Given the description of an element on the screen output the (x, y) to click on. 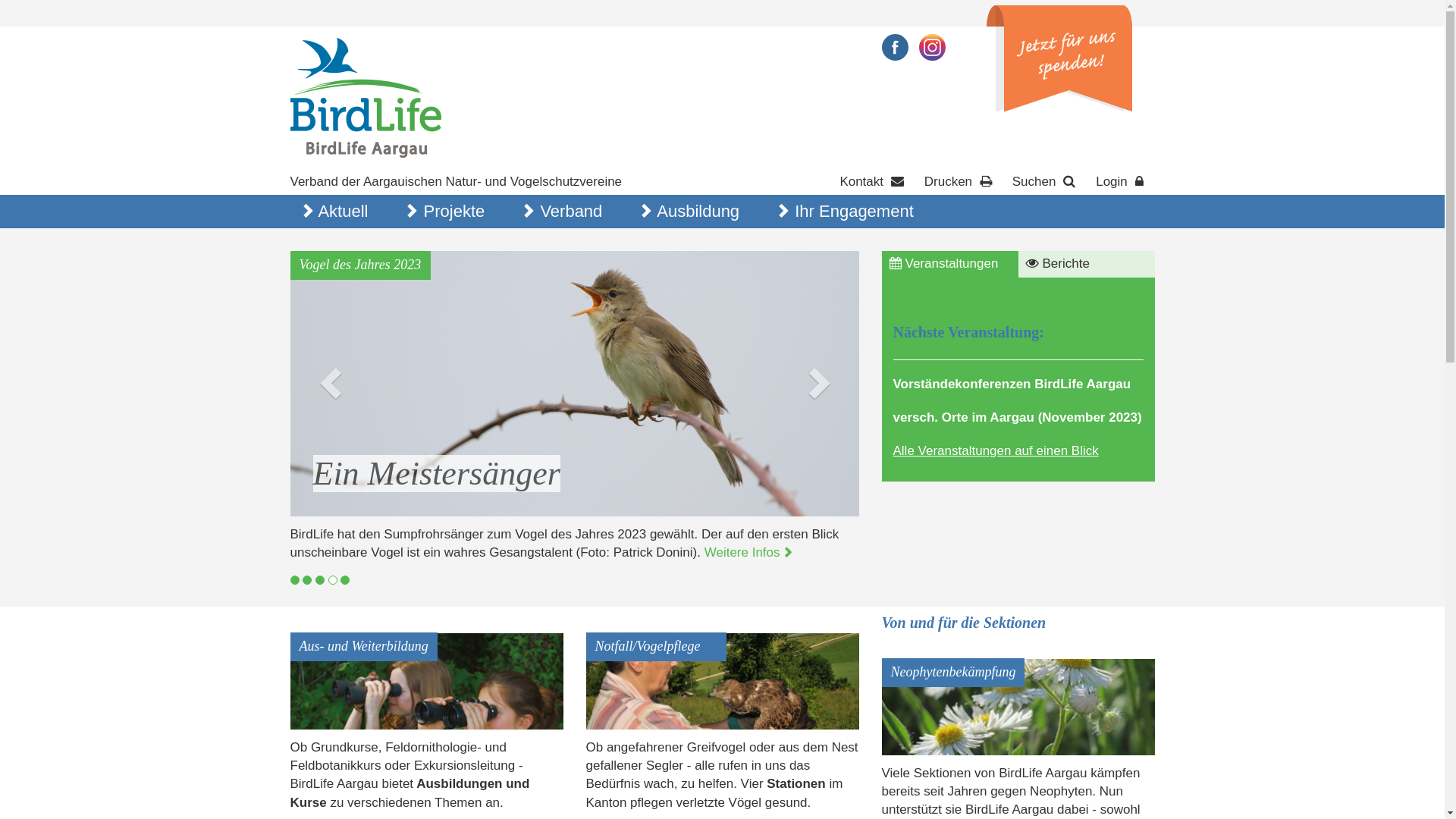
Spenden Element type: hover (1058, 58)
Berichte Element type: text (1085, 263)
Ihr Engagement Element type: text (852, 211)
Login Element type: text (1121, 181)
Drucken Element type: text (959, 181)
Aktuell Element type: text (341, 211)
Veranstaltungen Element type: text (949, 263)
Projekte Element type: text (452, 211)
Weitere Infos Element type: text (748, 552)
Kontakt Element type: text (872, 181)
Verband Element type: text (569, 211)
Home Element type: hover (365, 96)
Ausbildung Element type: text (696, 211)
Suchen Element type: text (1045, 181)
Alle Veranstaltungen auf einen Blick Element type: text (995, 450)
